Given the description of an element on the screen output the (x, y) to click on. 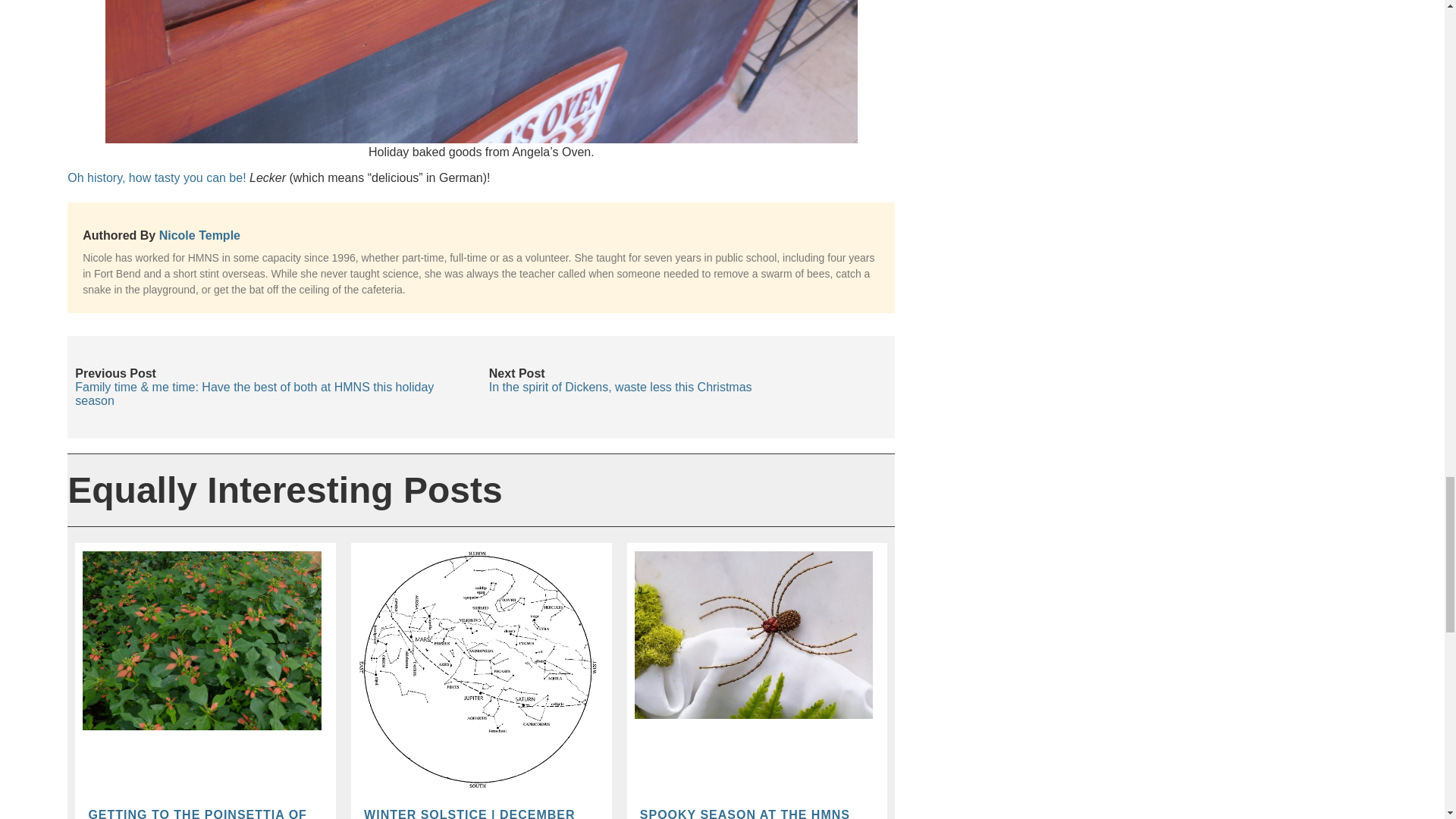
In the spirit of Dickens, waste less this Christmas (620, 386)
Nicole Temple (199, 235)
Spooky Season at the HMNS Museum Store (751, 813)
Oh history, how tasty you can be! (156, 177)
Getting to the Poinsettia of it all (199, 813)
GETTING TO THE POINSETTIA OF IT ALL (199, 813)
SPOOKY SEASON AT THE HMNS MUSEUM STORE (751, 813)
